Given the description of an element on the screen output the (x, y) to click on. 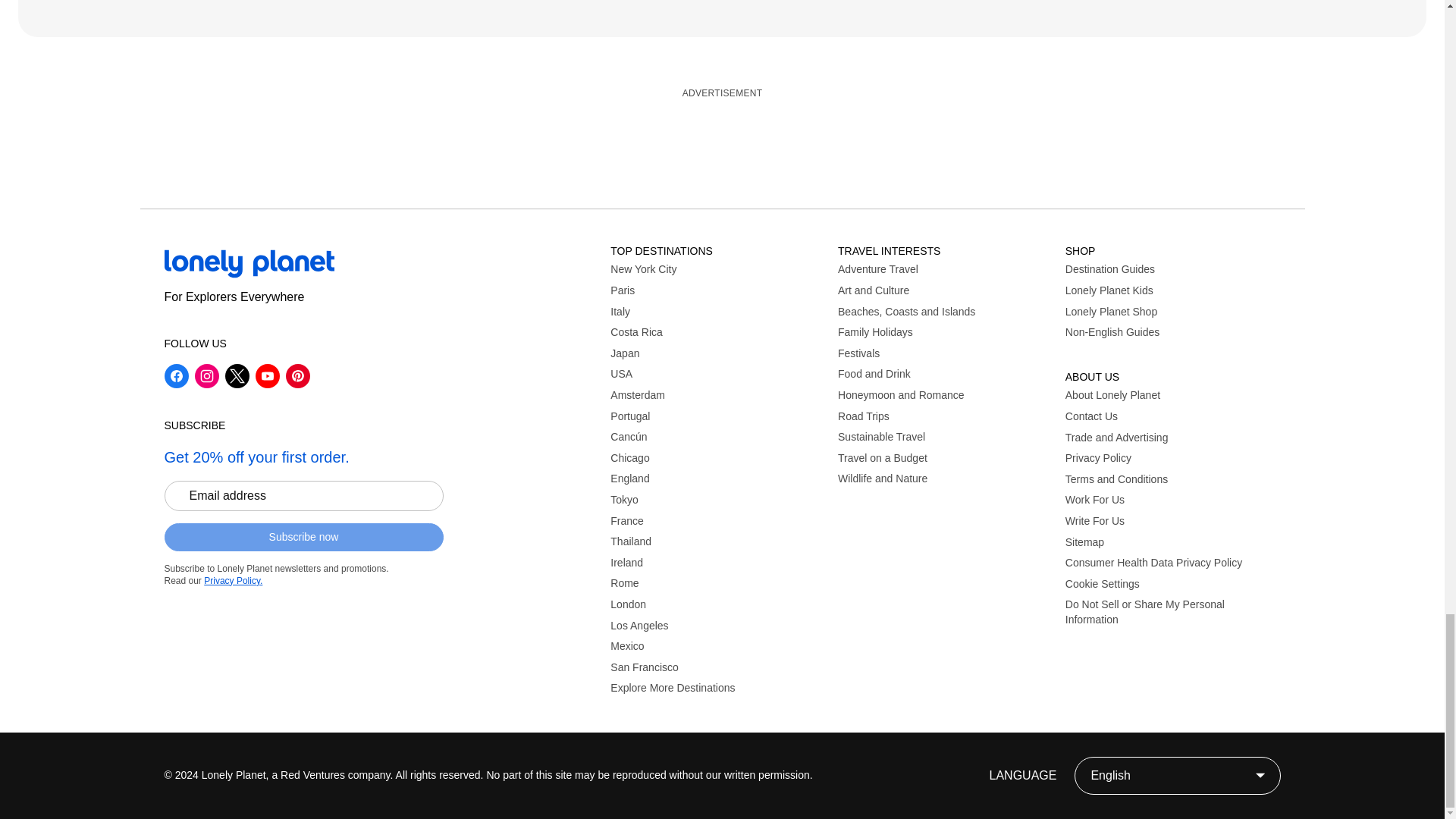
3rd party ad content (721, 141)
